Given the description of an element on the screen output the (x, y) to click on. 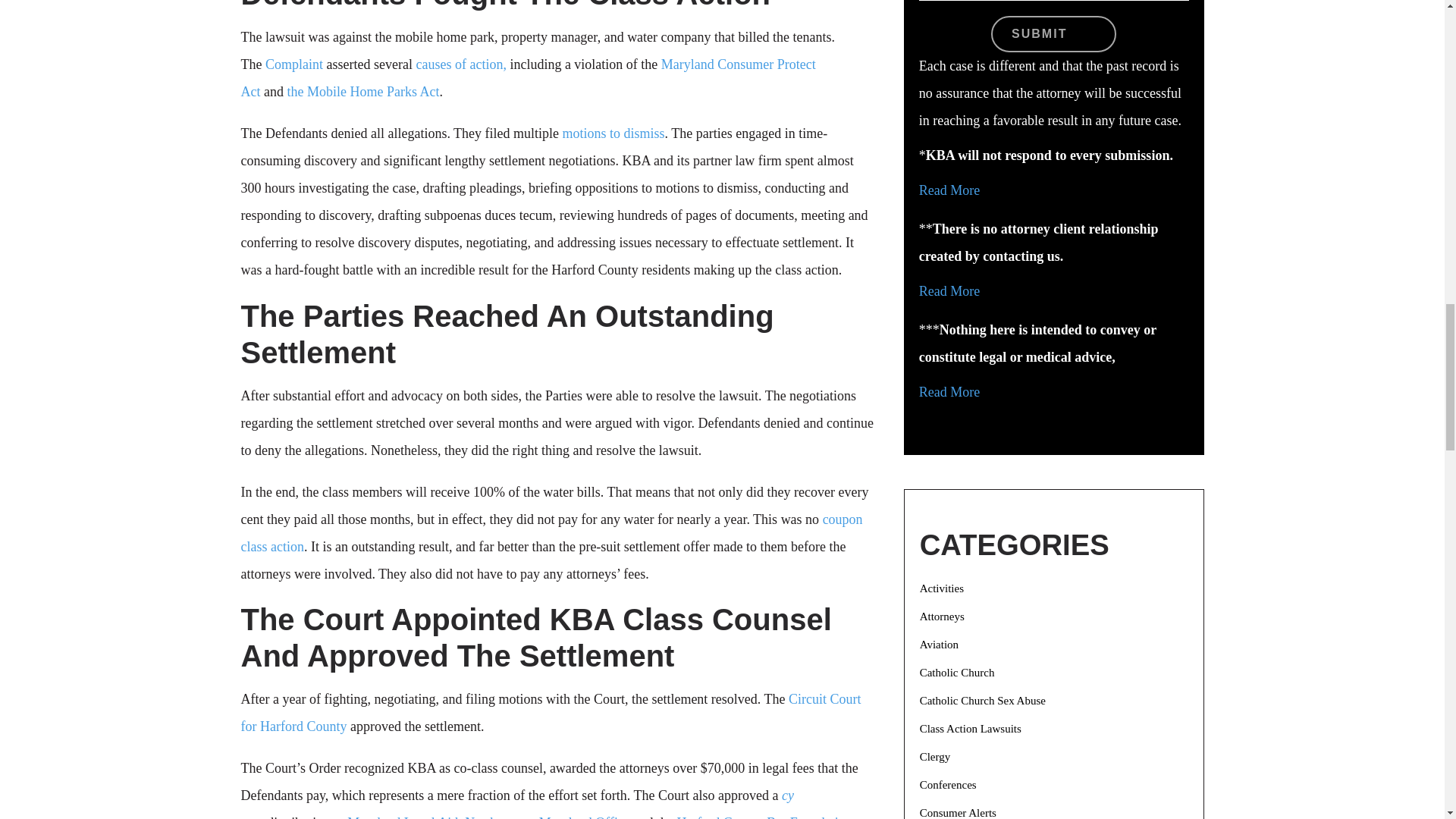
View all post filed under Aviation (939, 644)
Submit (1053, 33)
View all post filed under Attorneys (941, 616)
View all post filed under Catholic Church (957, 672)
View all post filed under Activities (941, 588)
View all post filed under Class Action Lawsuits (971, 728)
View all post filed under Consumer Alerts (957, 812)
View all post filed under Clergy (935, 756)
View all post filed under Catholic Church Sex Abuse (982, 700)
View all post filed under Conferences (948, 784)
